Given the description of an element on the screen output the (x, y) to click on. 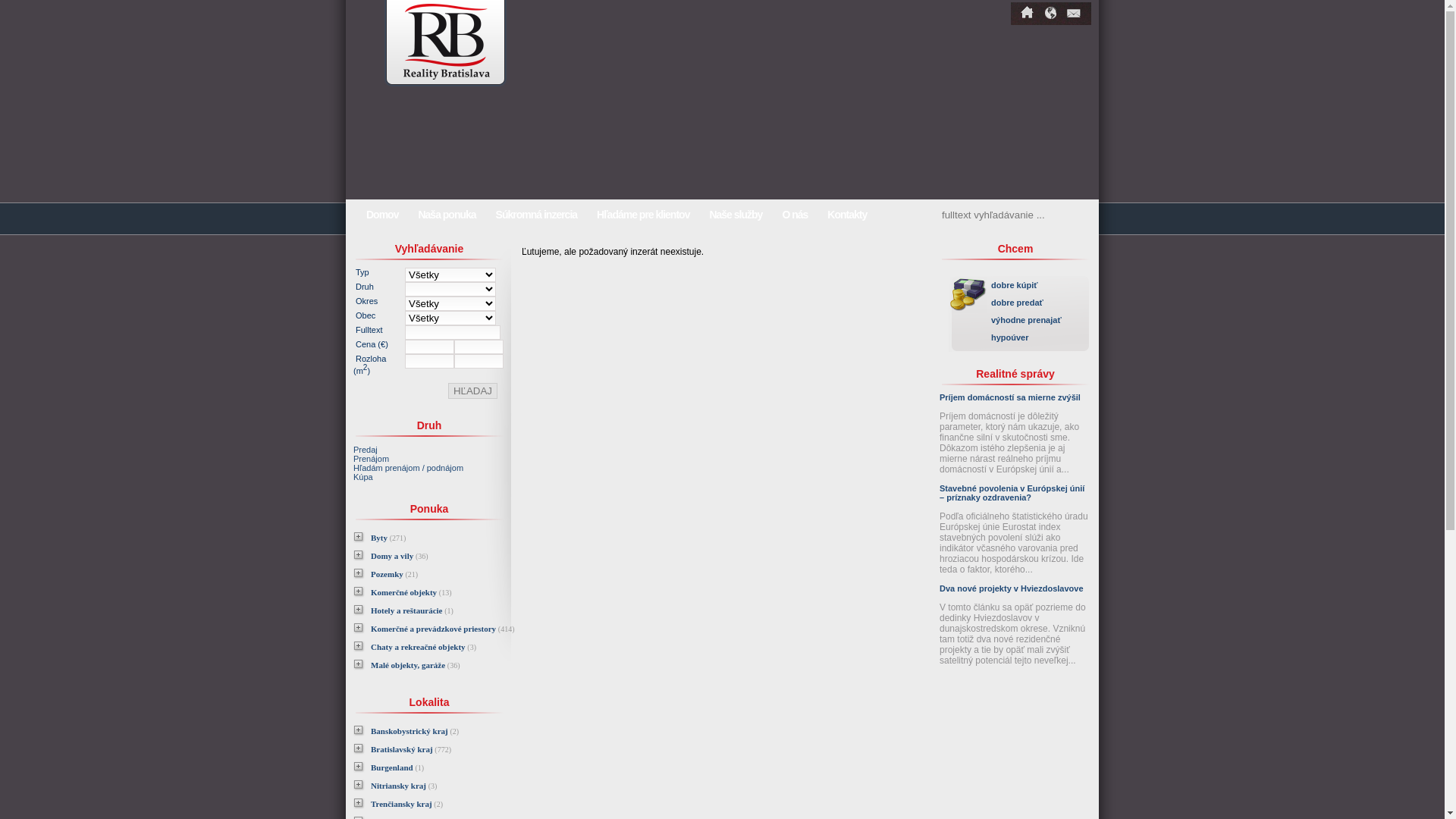
Domov Element type: text (381, 214)
Pozemky (21) Element type: text (395, 573)
Predaj Element type: text (365, 449)
Domy a vily (36) Element type: text (401, 555)
Burgenland (1) Element type: text (398, 766)
Byty (271) Element type: text (389, 537)
Kontakty Element type: text (846, 214)
Domov Element type: hover (1027, 13)
Nitriansky kraj (3) Element type: text (405, 785)
